Given the description of an element on the screen output the (x, y) to click on. 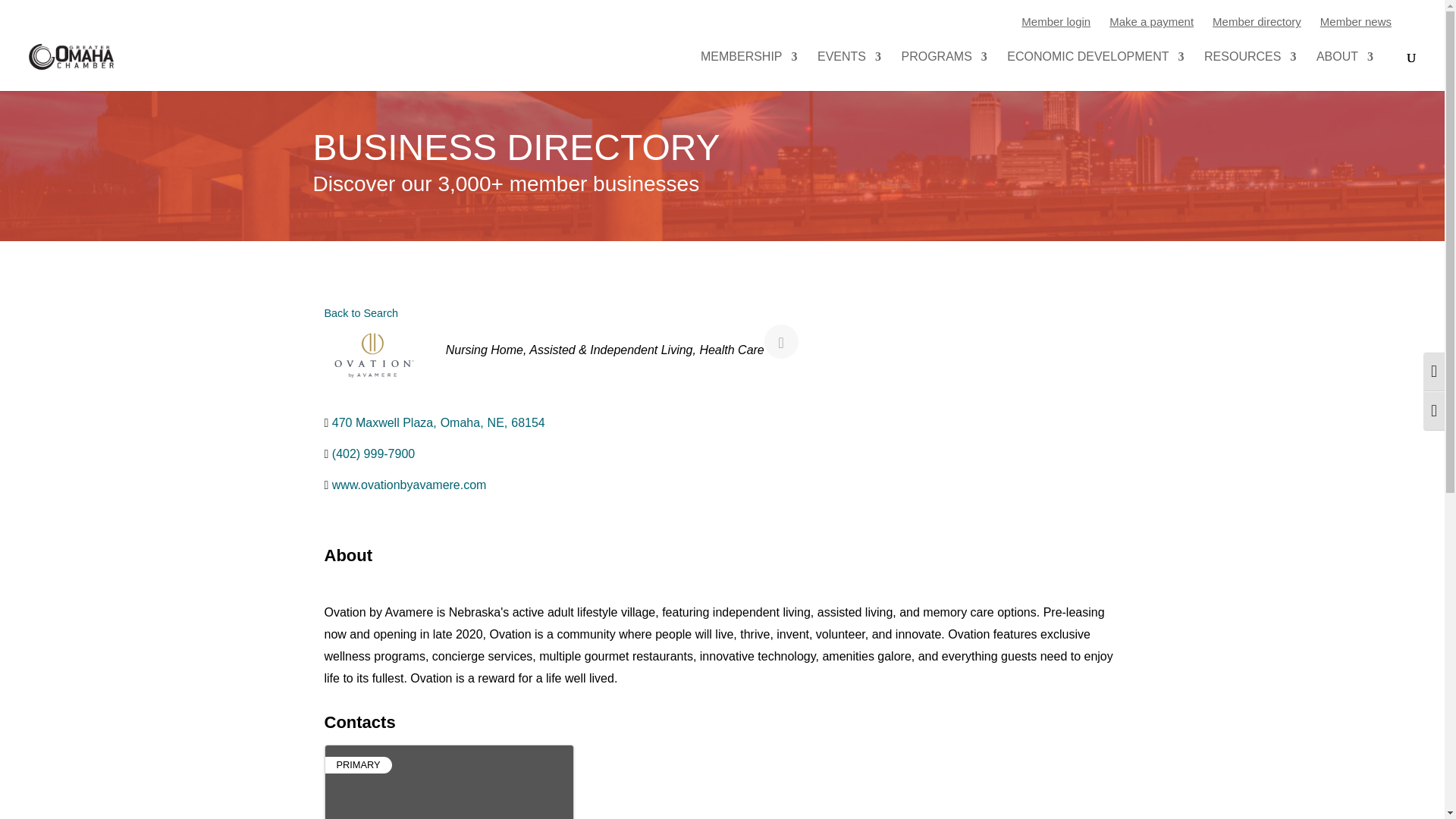
PROGRAMS (944, 70)
Member directory (1256, 21)
Member news (1355, 21)
MEMBERSHIP (748, 70)
Member login (1056, 21)
ECONOMIC DEVELOPMENT (1095, 70)
Make a payment (1151, 21)
EVENTS (848, 70)
